Given the description of an element on the screen output the (x, y) to click on. 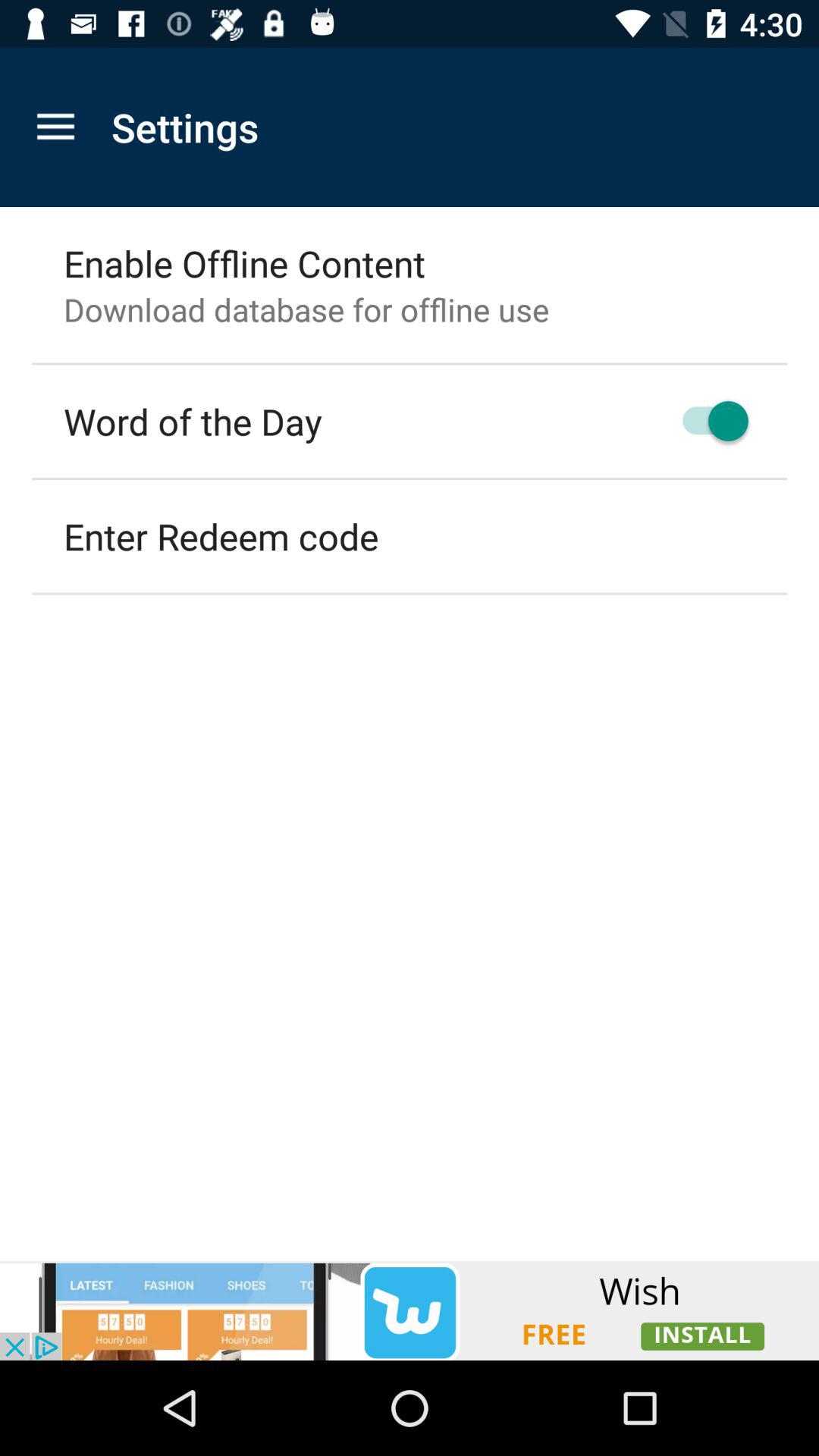
open wish advertisement (409, 1310)
